Given the description of an element on the screen output the (x, y) to click on. 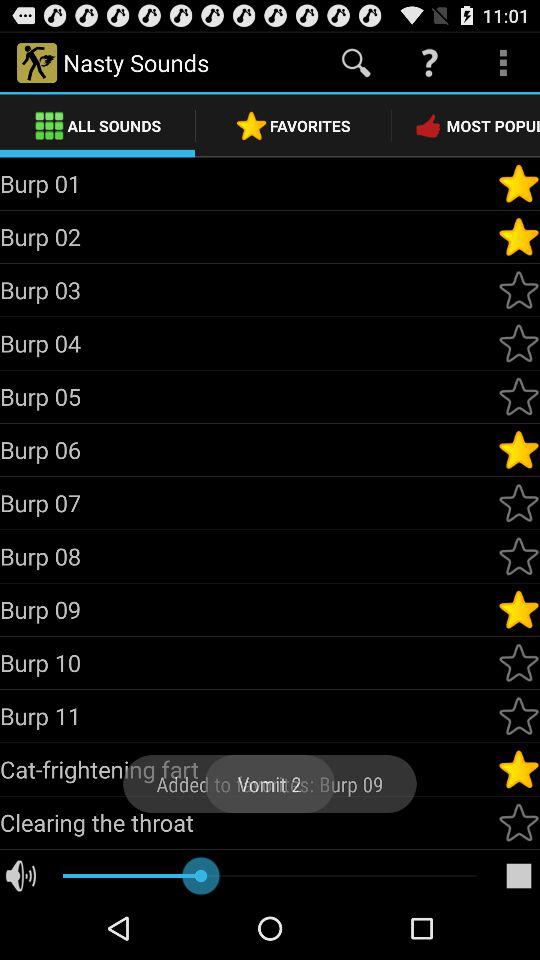
click to favorite (519, 716)
